Given the description of an element on the screen output the (x, y) to click on. 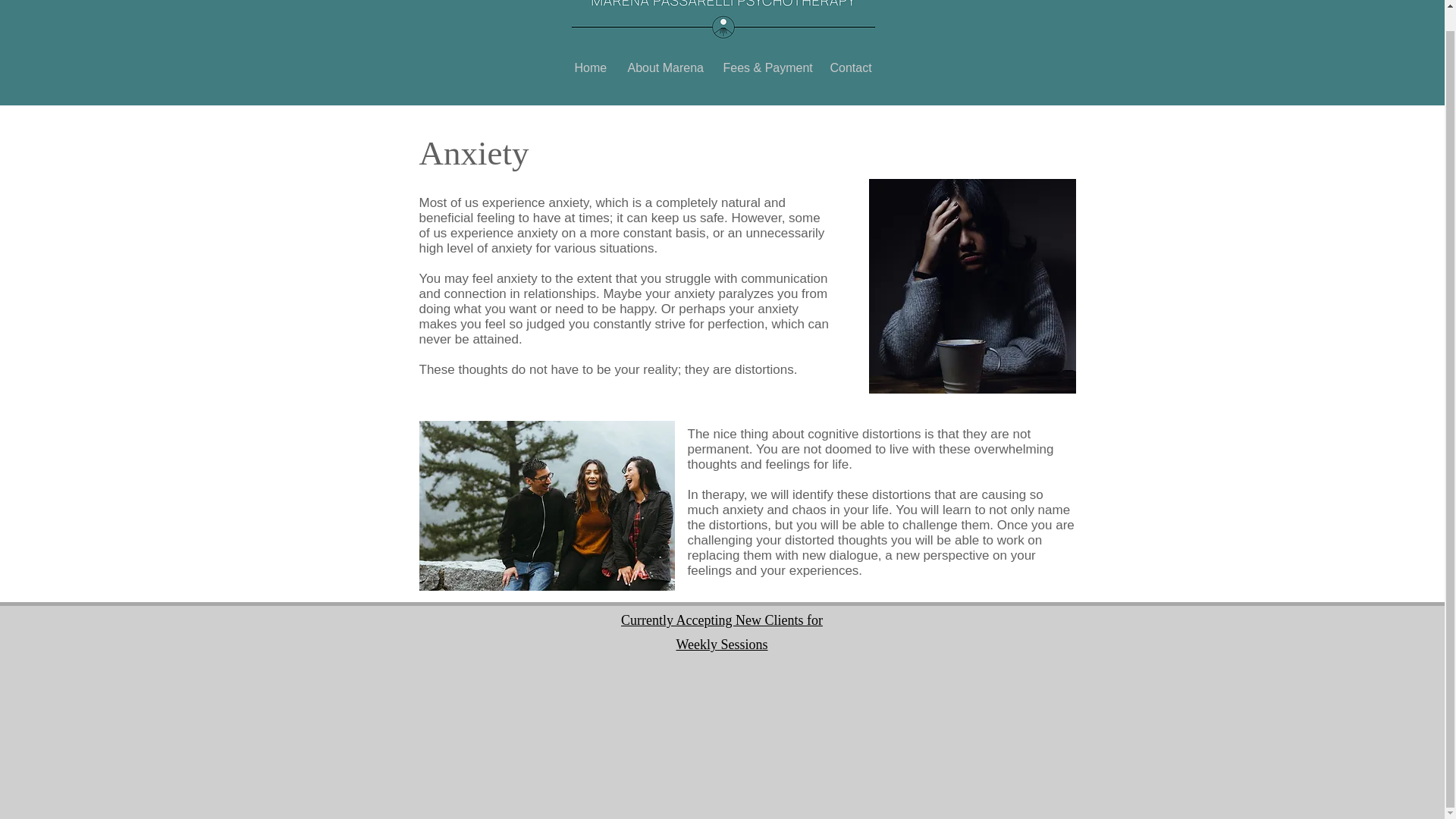
Home (588, 67)
Contact (849, 67)
Currently Accepting New Clients for Weekly Sessions (721, 631)
About Marena (663, 67)
